Given the description of an element on the screen output the (x, y) to click on. 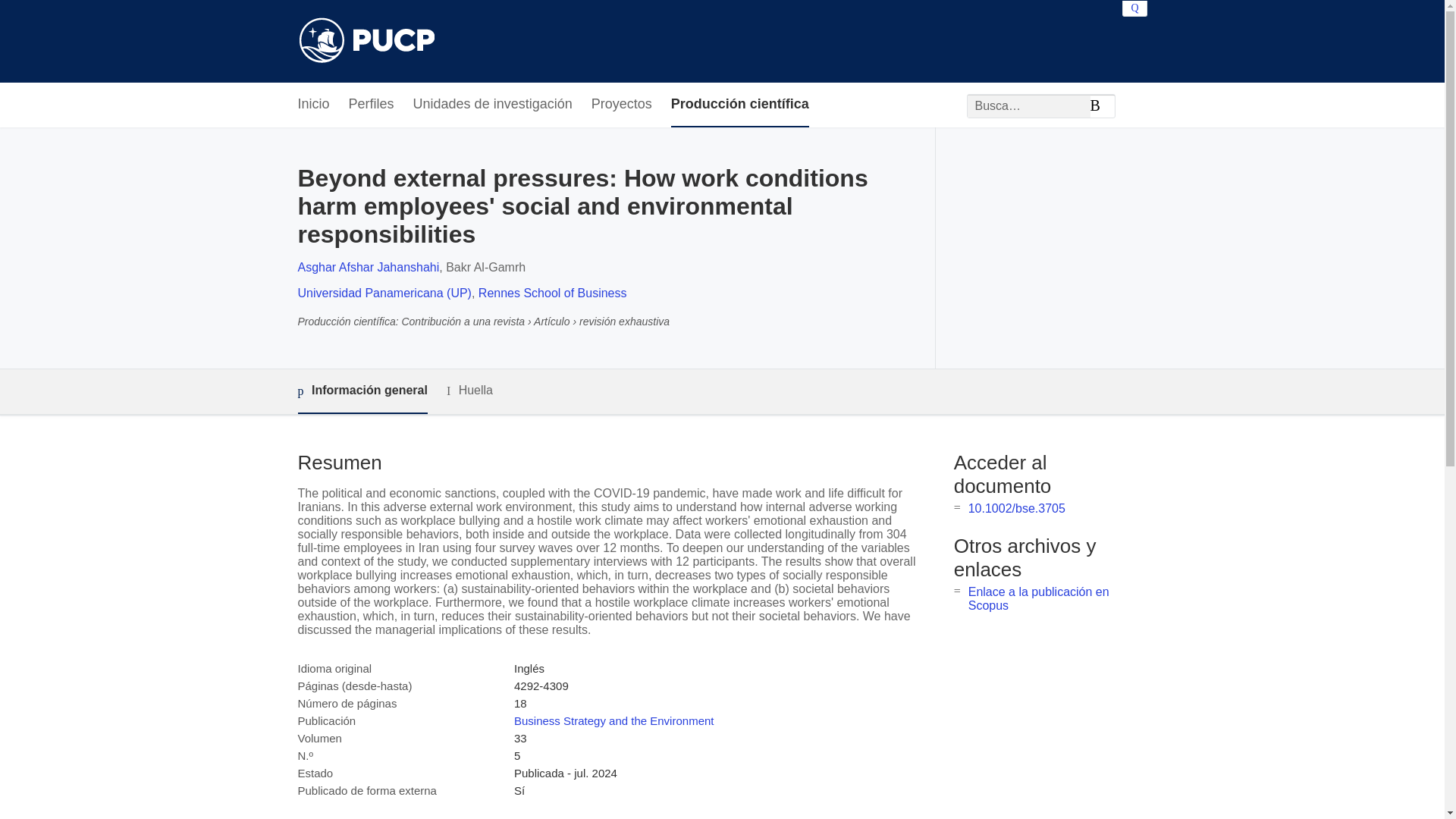
Perfiles (371, 104)
Rennes School of Business (553, 292)
Huella (469, 390)
Proyectos (621, 104)
Business Strategy and the Environment (613, 720)
Asghar Afshar Jahanshahi (368, 267)
